Given the description of an element on the screen output the (x, y) to click on. 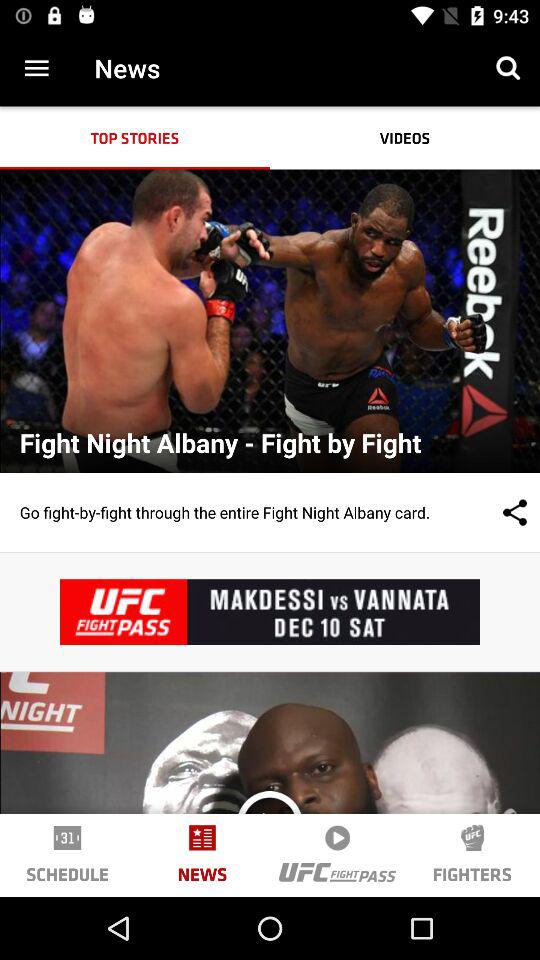
select the icon on the right (495, 512)
